Given the description of an element on the screen output the (x, y) to click on. 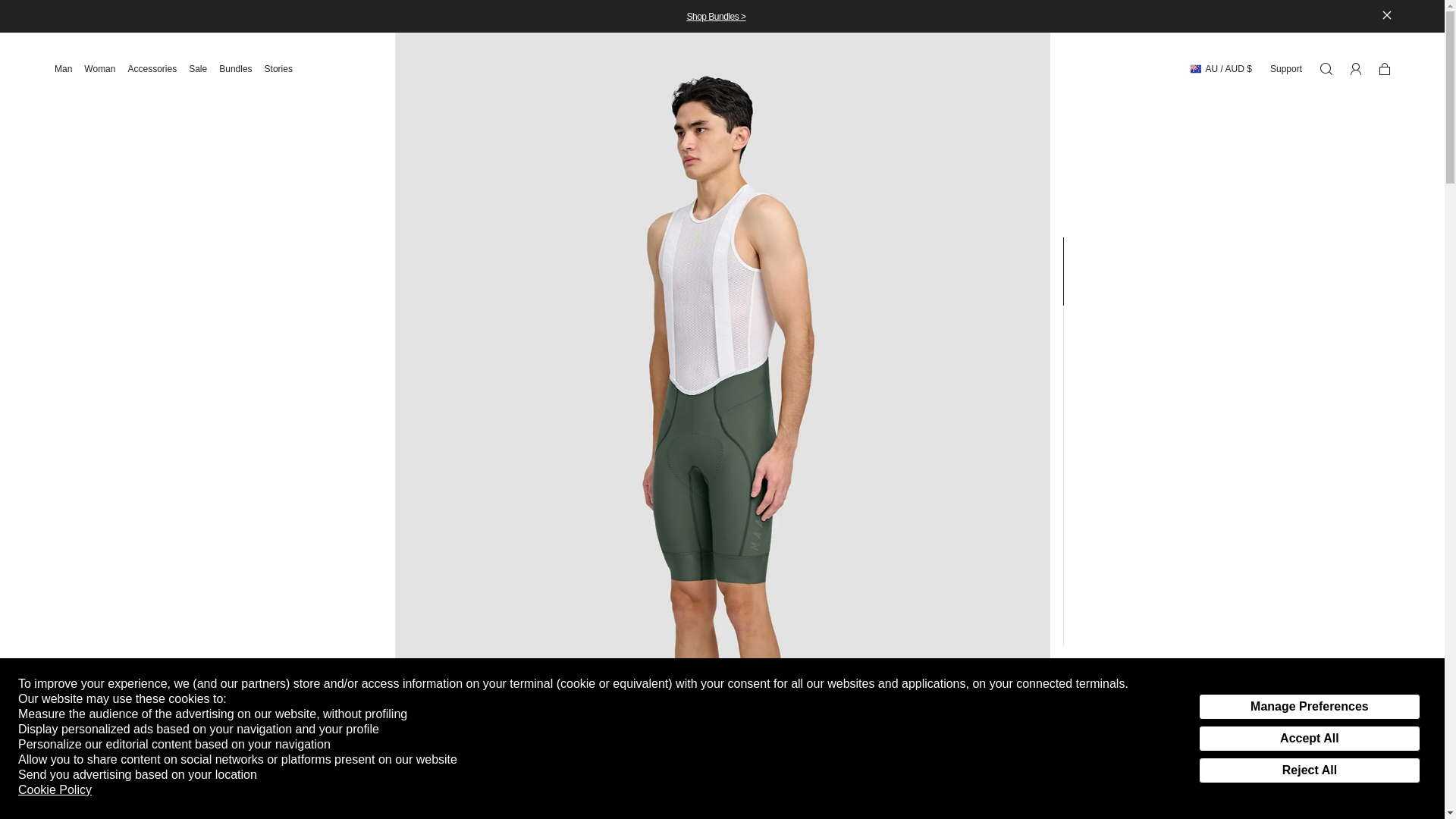
XL (1282, 780)
Man (69, 68)
XS (1157, 780)
Reject All (1309, 769)
L (1251, 780)
XXL (1235, 780)
Accessories (1313, 780)
Stories (158, 68)
Bundles (284, 68)
Sale (241, 68)
M (204, 68)
Accept All (1220, 780)
S (1309, 738)
Support (1189, 780)
